Given the description of an element on the screen output the (x, y) to click on. 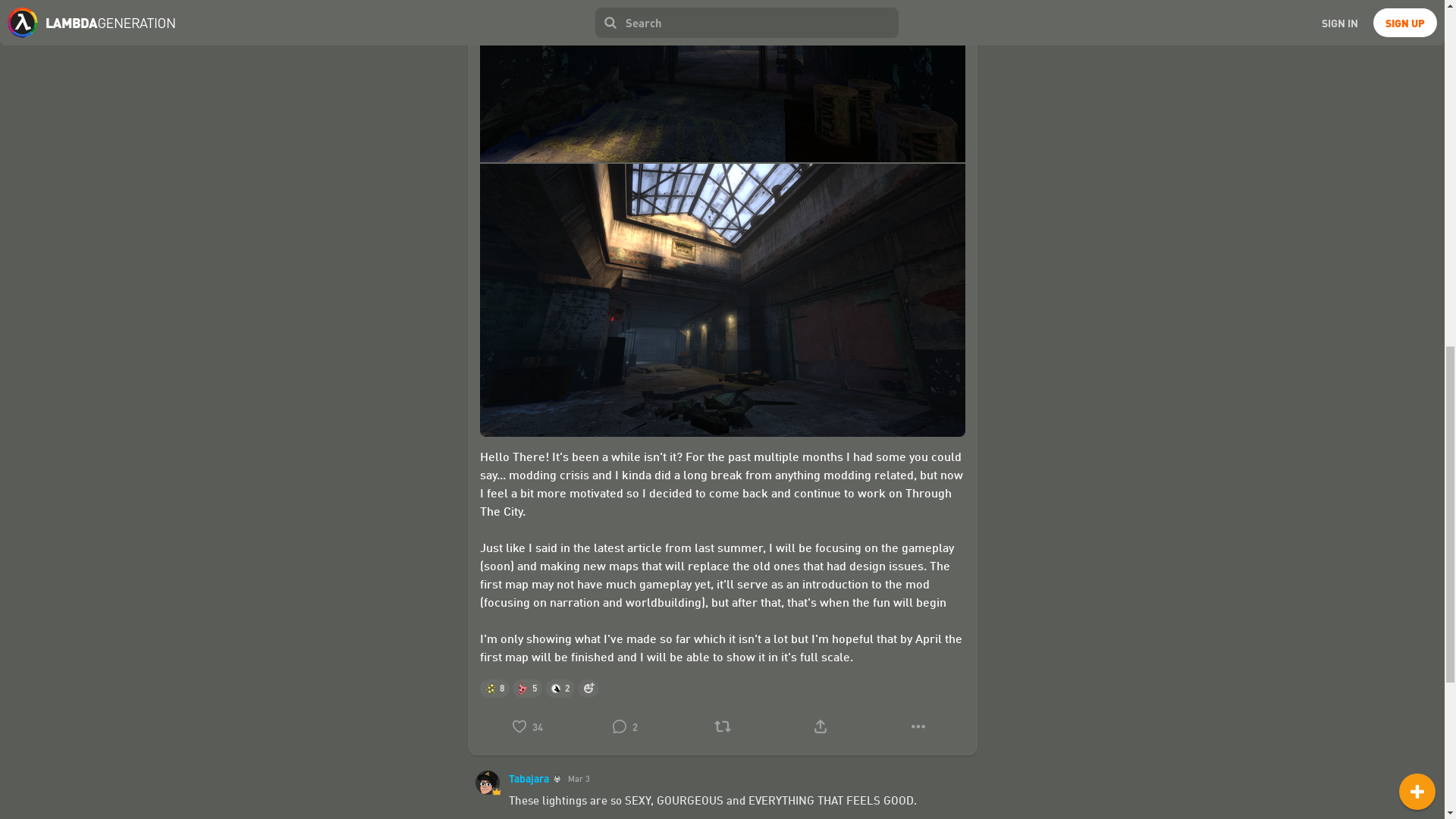
Tabajara (534, 778)
2 (624, 726)
